Given the description of an element on the screen output the (x, y) to click on. 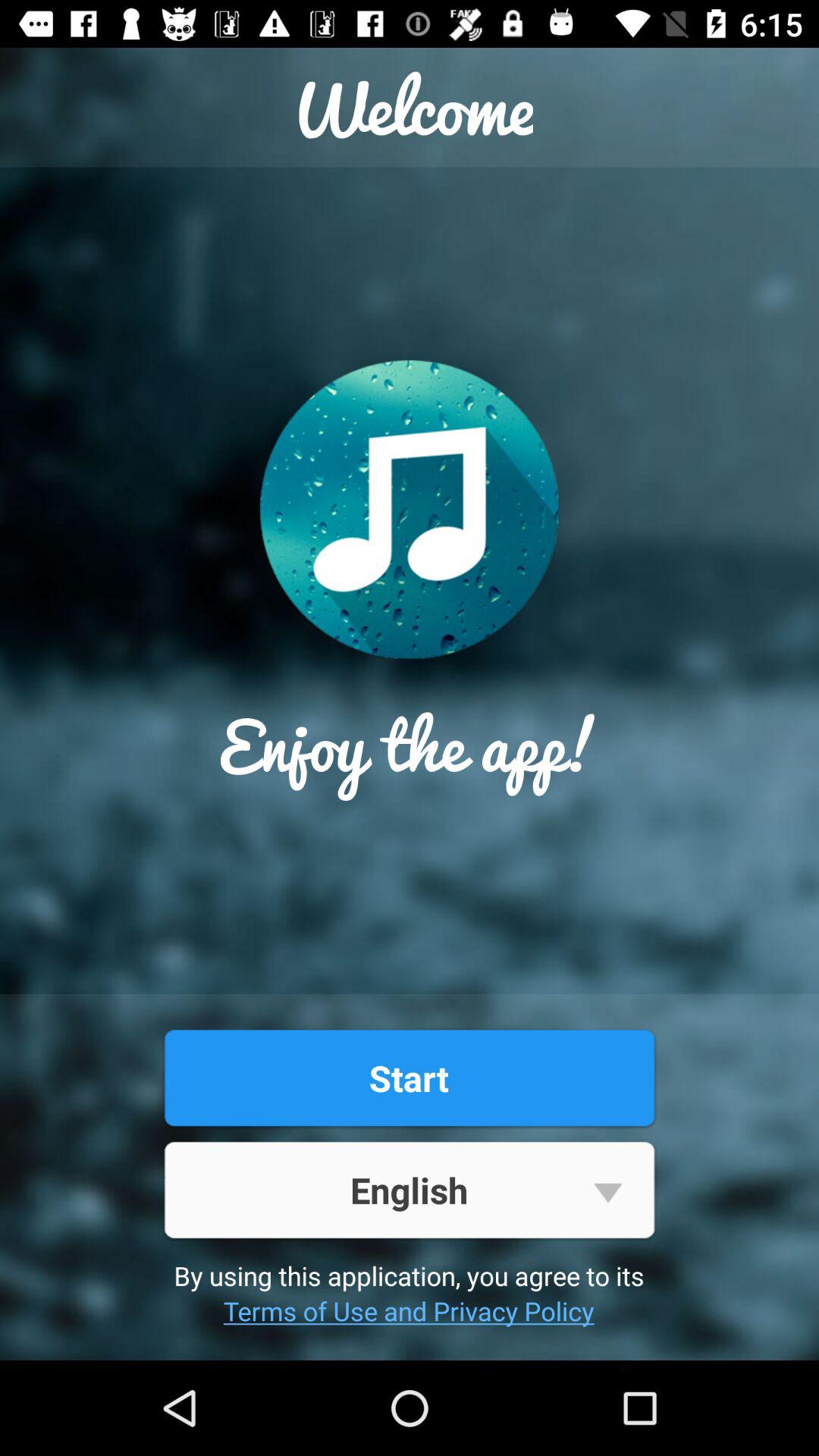
choose the item below the start button (409, 1190)
